Given the description of an element on the screen output the (x, y) to click on. 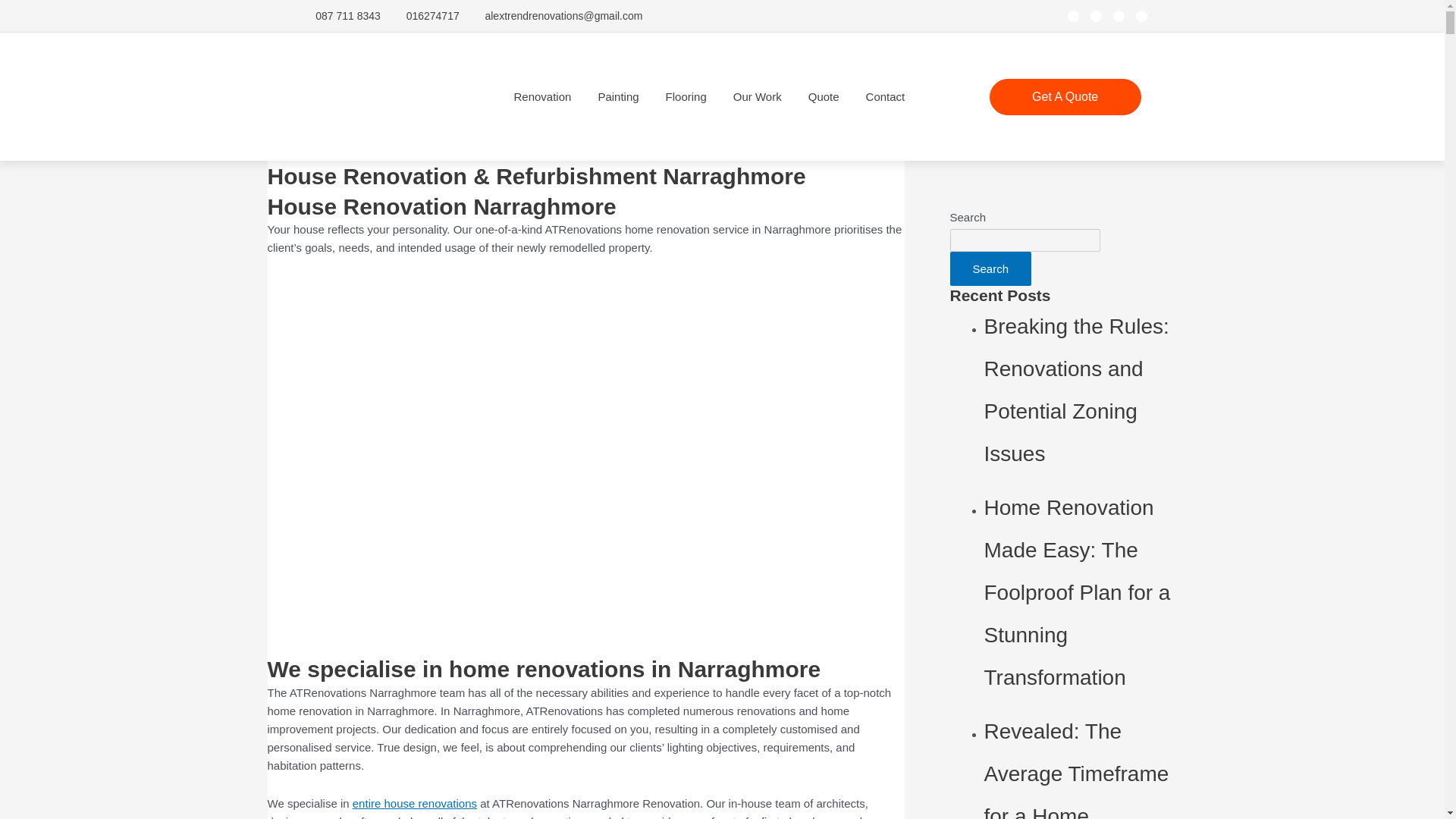
Painting (617, 96)
016274717 (424, 15)
087 711 8343 (338, 15)
Youtube (1141, 16)
Twitter (1096, 16)
Renovation (542, 96)
Pinterest (1118, 16)
Quote (824, 96)
Facebook (1072, 16)
Our Work (757, 96)
Contact (885, 96)
Flooring (685, 96)
